Given the description of an element on the screen output the (x, y) to click on. 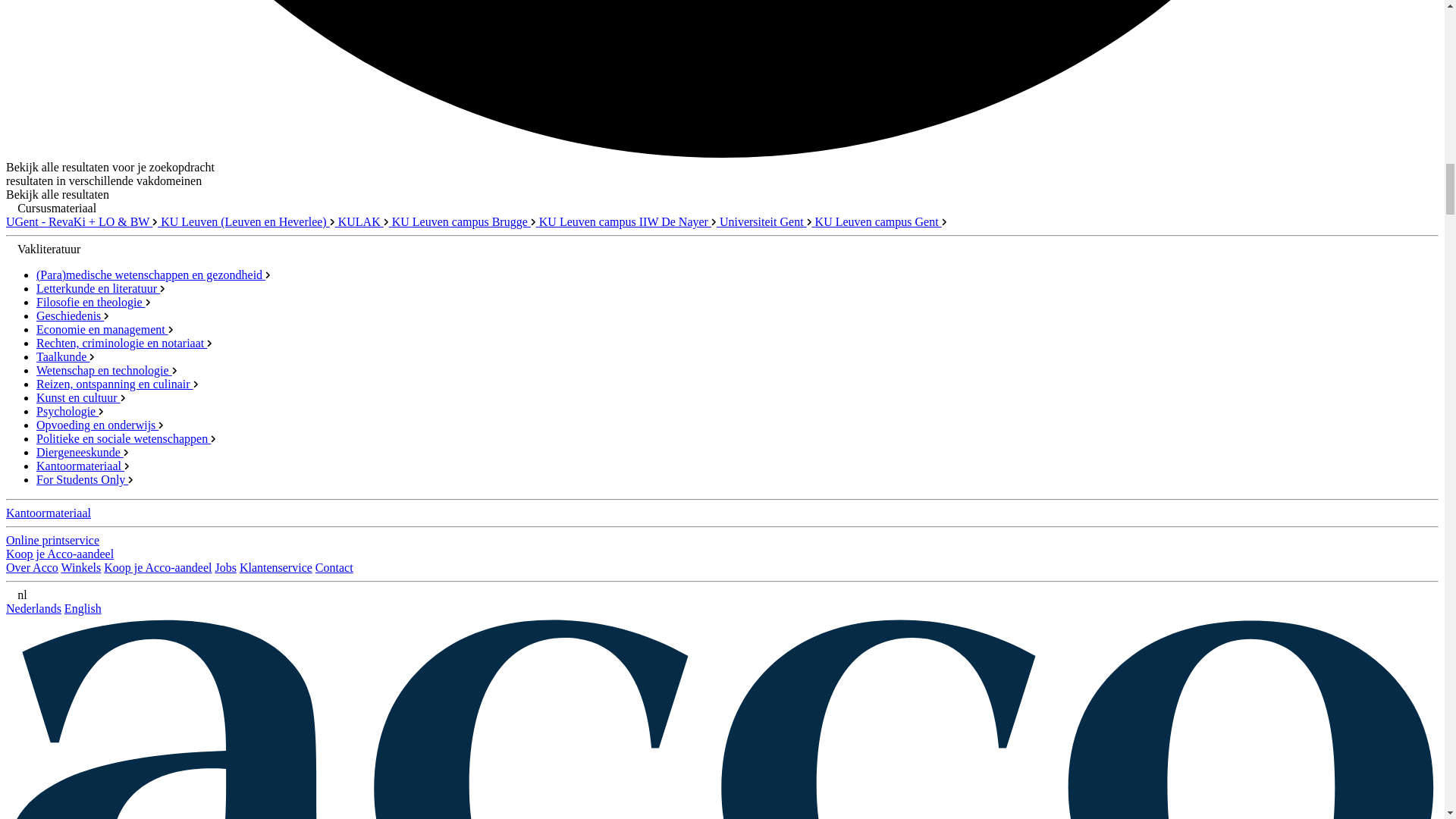
Bekijk alle resultaten voor je zoekopdracht (109, 166)
KULAK (364, 221)
KU Leuven campus Gent (881, 221)
Psychologie (69, 410)
Filosofie en theologie (93, 301)
Letterkunde en literatuur (100, 287)
Taalkunde (65, 356)
KU Leuven campus Brugge (464, 221)
Economie en management (104, 328)
Geschiedenis (72, 315)
